Given the description of an element on the screen output the (x, y) to click on. 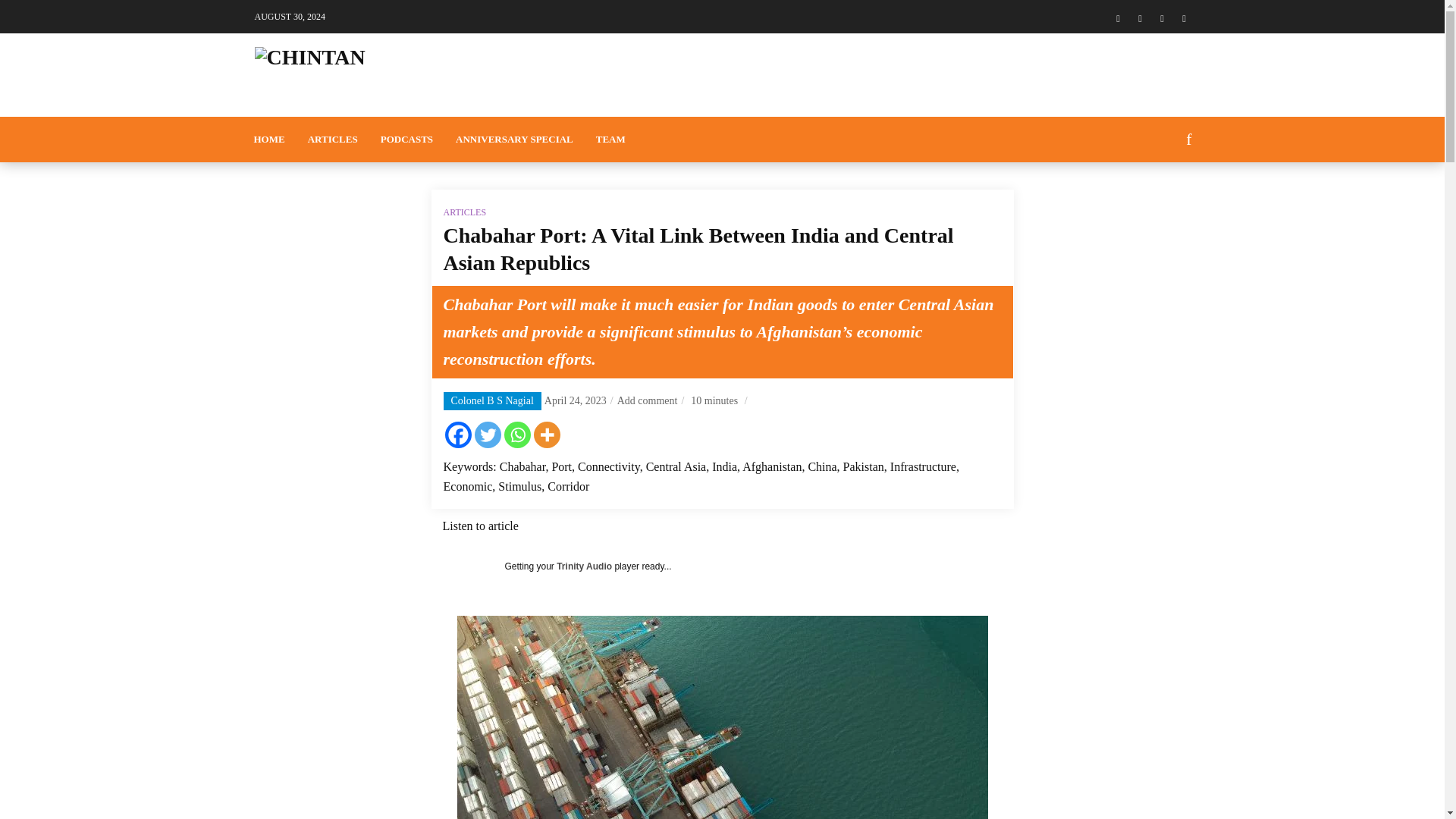
Twitter (487, 434)
HOME (270, 139)
ARTICLES (333, 139)
TEAM (611, 139)
Whatsapp (516, 434)
ANNIVERSARY SPECIAL (514, 139)
Facebook (457, 434)
More (547, 434)
PODCASTS (406, 139)
